Given the description of an element on the screen output the (x, y) to click on. 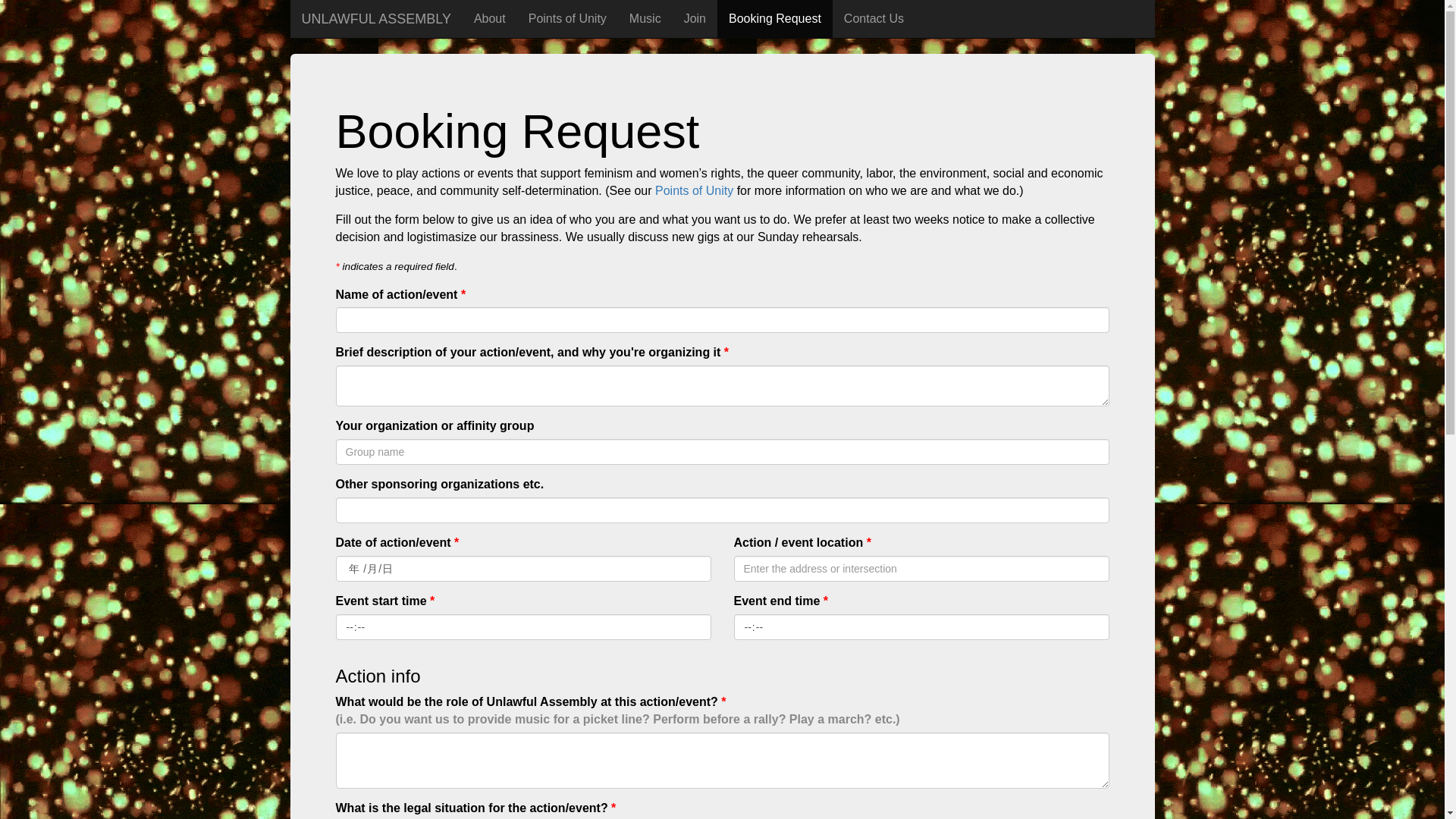
Points of Unity (566, 18)
Music (644, 18)
Join (694, 18)
Points of Unity (694, 190)
Music (644, 18)
Booking Request (774, 18)
About (489, 18)
UNLAWFUL ASSEMBLY (375, 18)
Contact Us (873, 18)
About (489, 18)
Booking Request (774, 18)
Contact Us (873, 18)
Points of Unity (566, 18)
Join (694, 18)
